Given the description of an element on the screen output the (x, y) to click on. 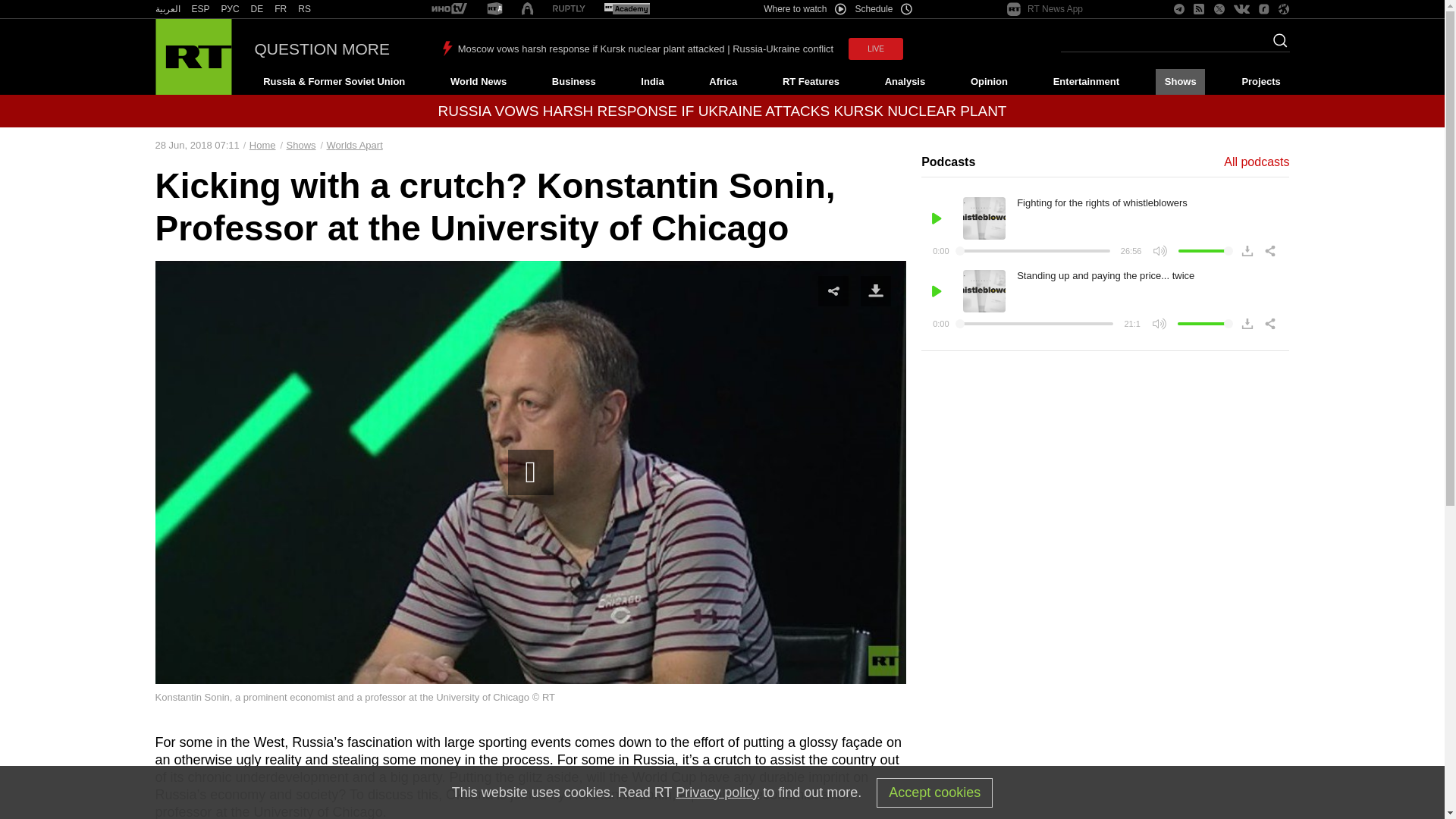
Opinion (988, 81)
RS (304, 9)
RT  (199, 9)
Search (1276, 44)
RT  (448, 9)
RT  (230, 9)
Schedule (884, 9)
RT  (626, 9)
RT News App (1045, 9)
RT  (256, 9)
